Given the description of an element on the screen output the (x, y) to click on. 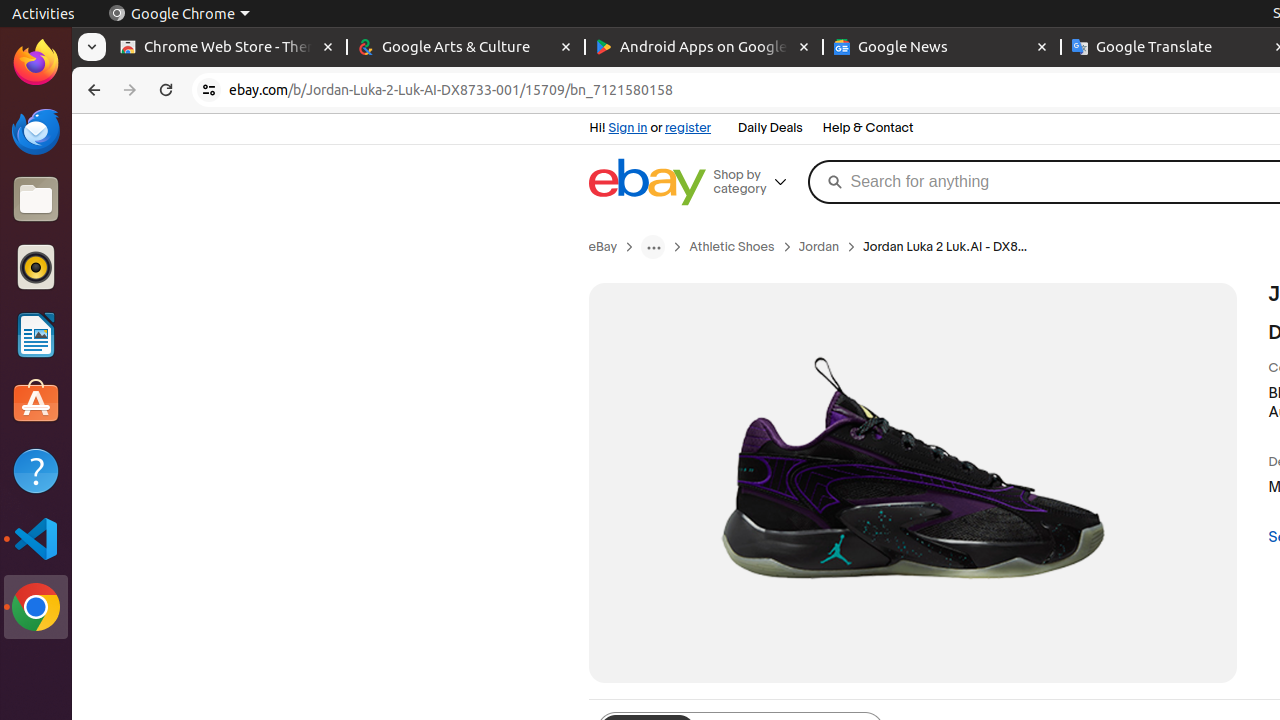
Firefox Web Browser Element type: push-button (36, 63)
breadcrumb menu Element type: push-button (653, 247)
Athletic Shoes Element type: link (732, 247)
Google Chrome Element type: menu (179, 13)
Shop by category Element type: push-button (757, 182)
